Given the description of an element on the screen output the (x, y) to click on. 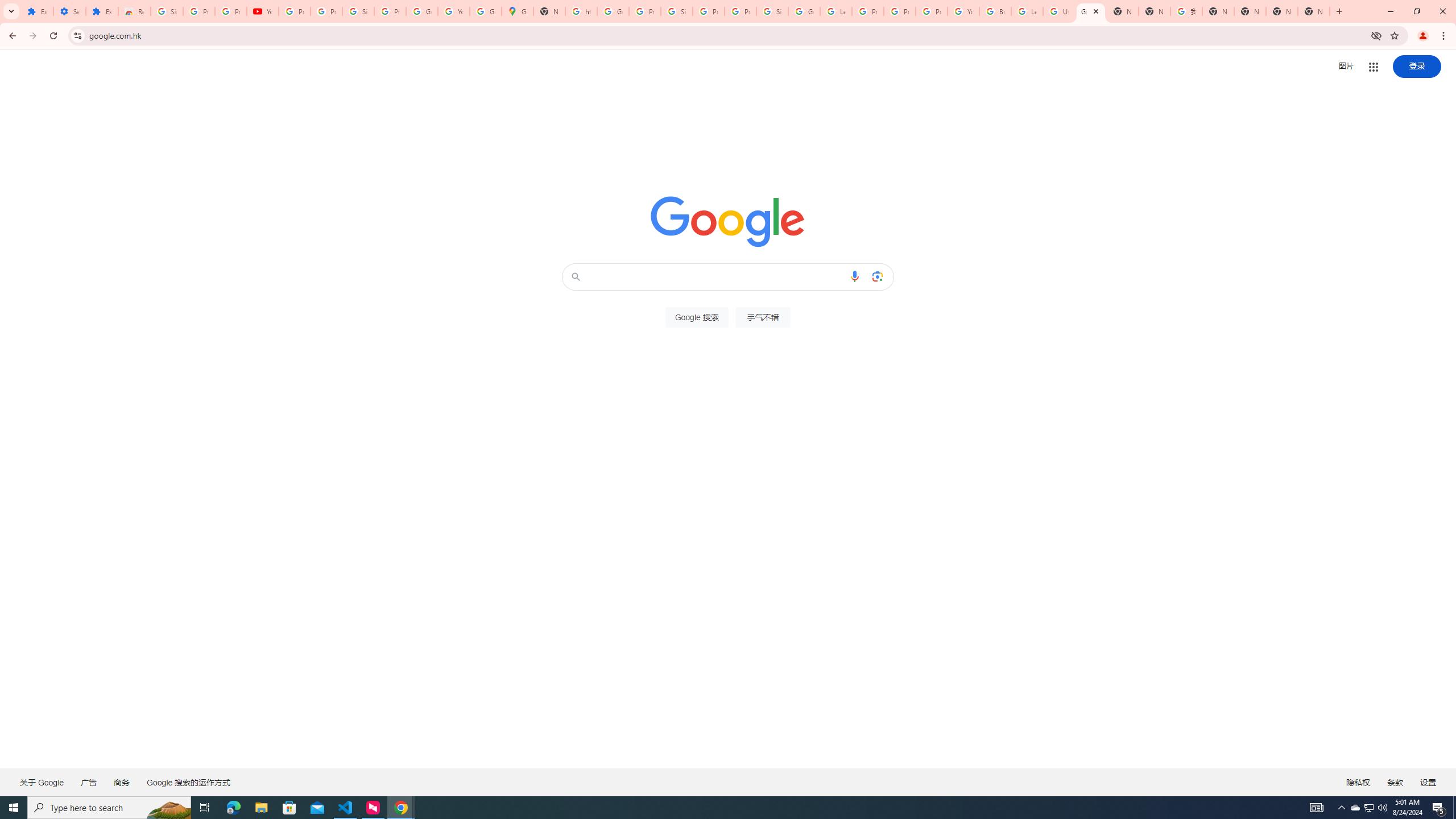
Extensions (101, 11)
Extensions (37, 11)
New Tab (1313, 11)
